Given the description of an element on the screen output the (x, y) to click on. 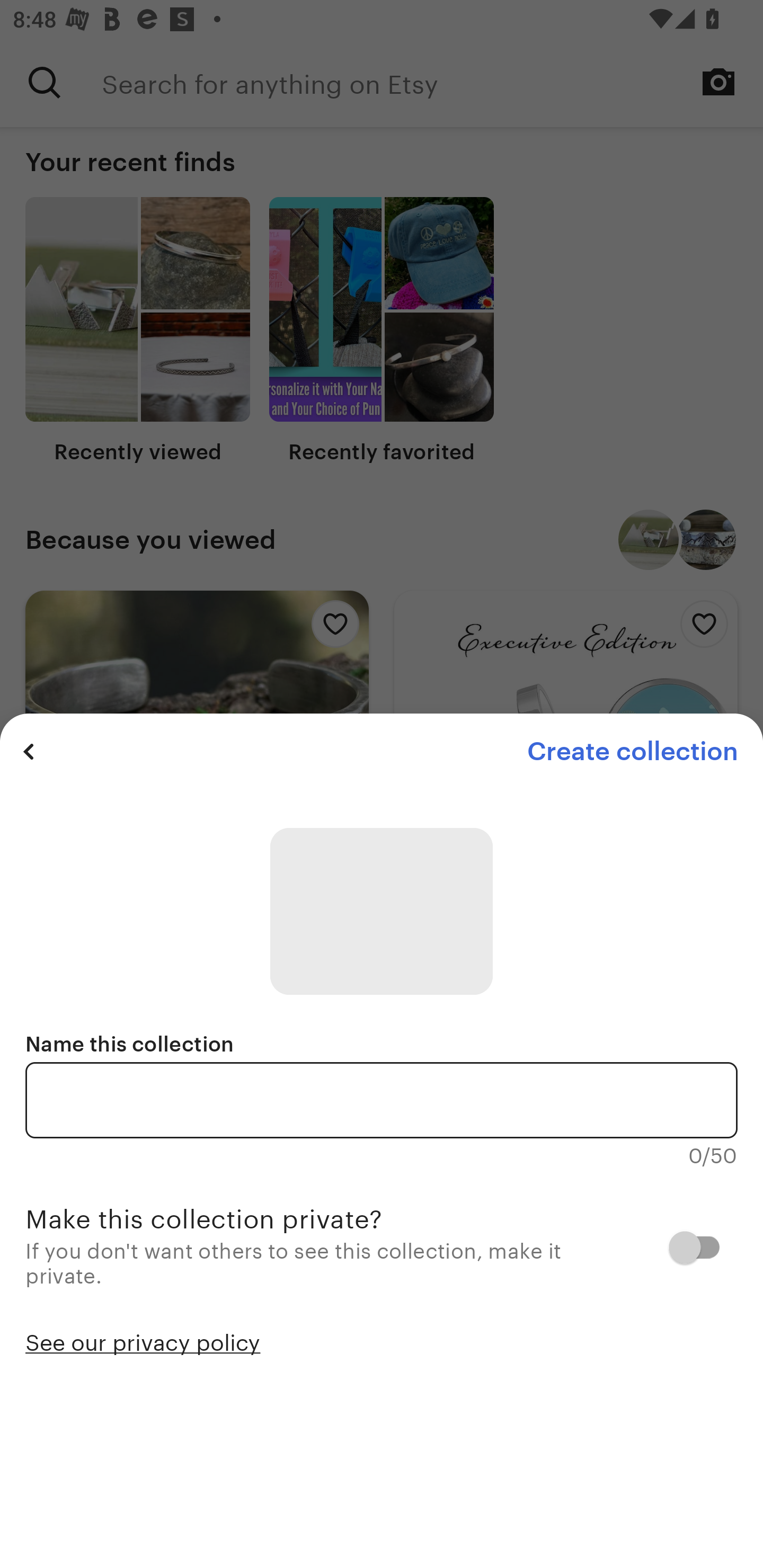
Previous (28, 751)
Create collection (632, 751)
See our privacy policy (142, 1341)
